Given the description of an element on the screen output the (x, y) to click on. 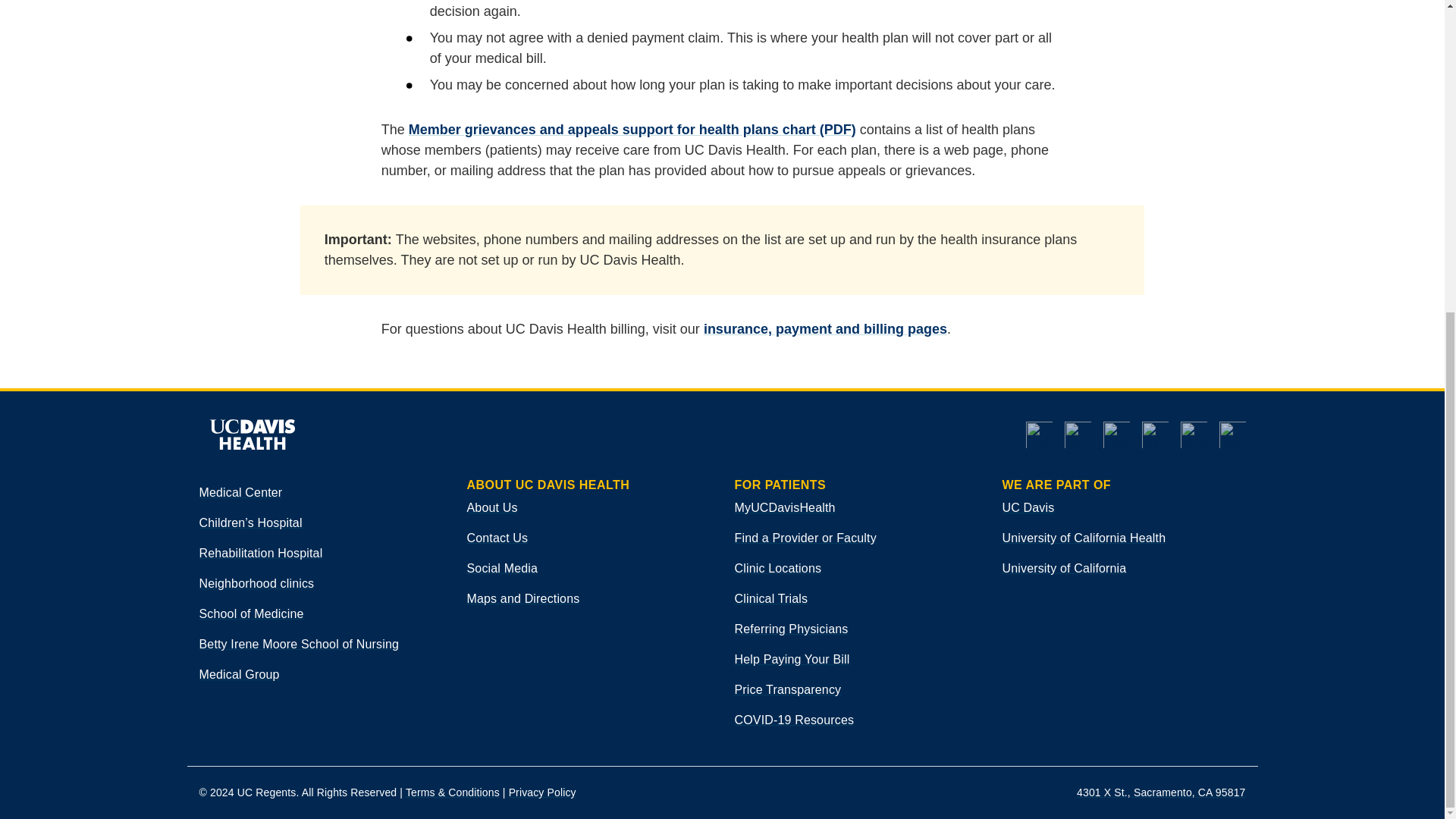
RSS (1226, 434)
Visit us on YouTube (1038, 434)
Follow us on Instagram (1187, 434)
Visit us on X (1149, 434)
UC Davis Health (251, 434)
Follow us on LinkedIn (1109, 434)
Visit us on Facebook (1071, 434)
